Given the description of an element on the screen output the (x, y) to click on. 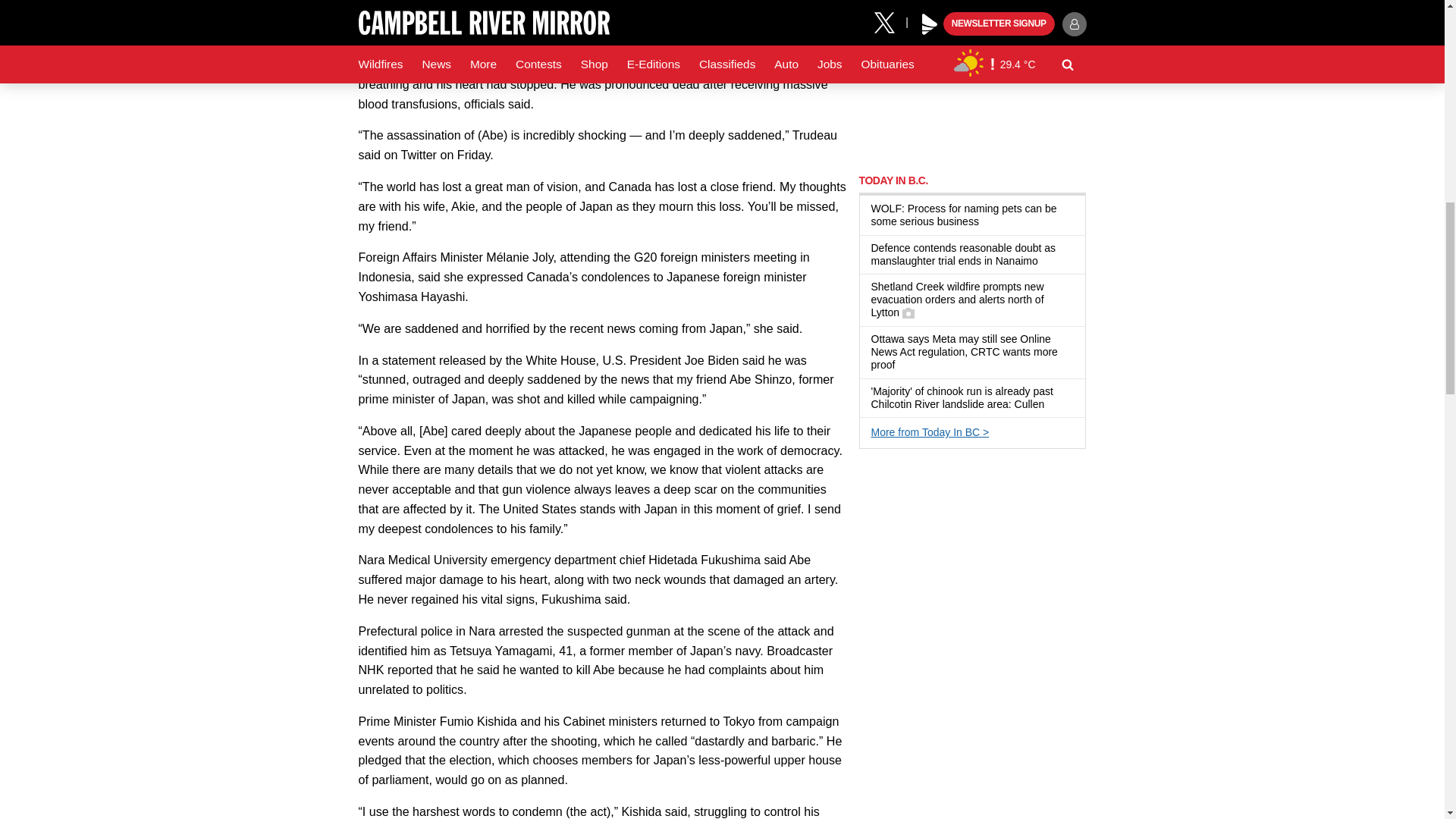
Has a gallery (908, 313)
